Given the description of an element on the screen output the (x, y) to click on. 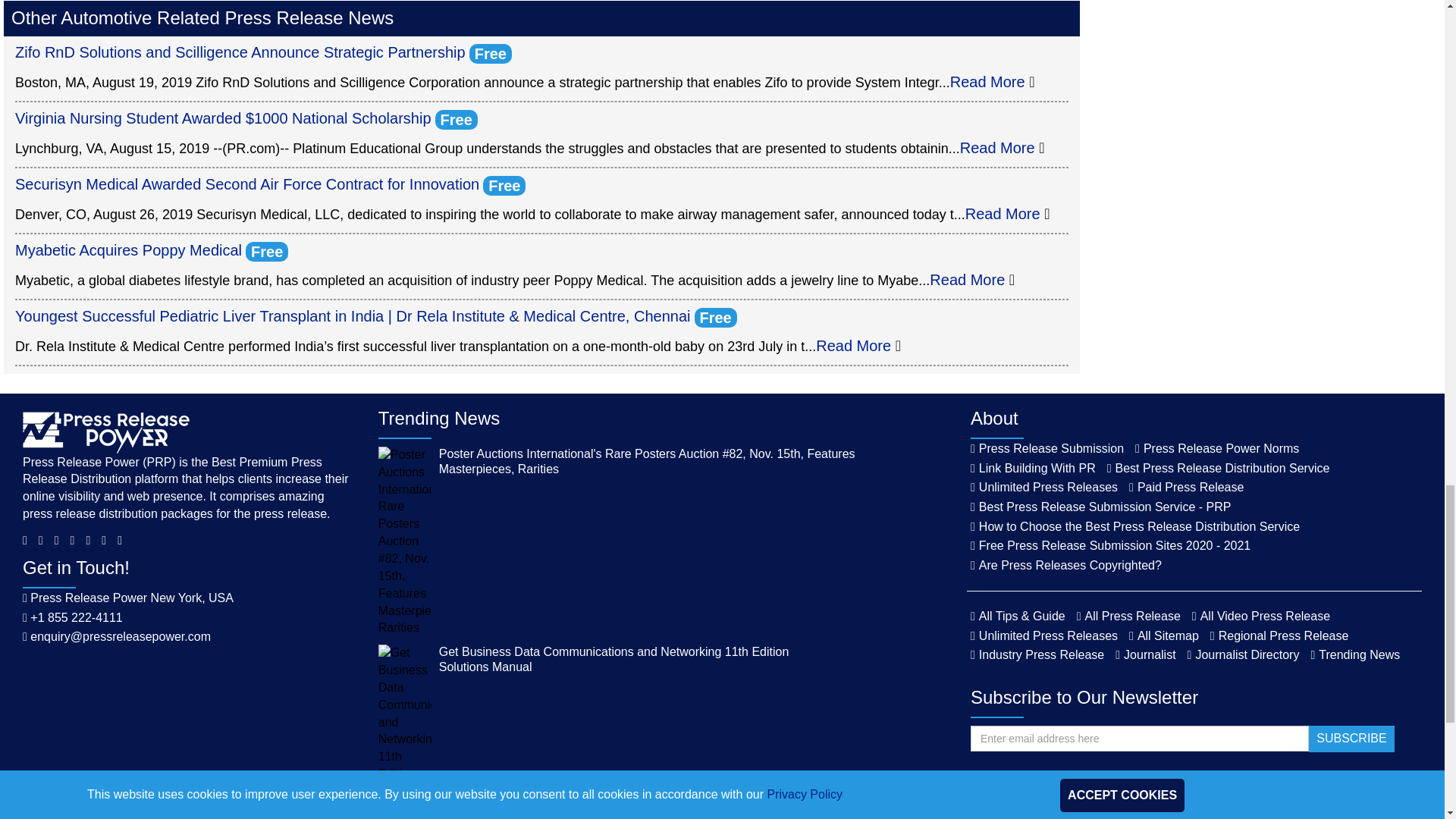
Press Release Power (106, 431)
